Given the description of an element on the screen output the (x, y) to click on. 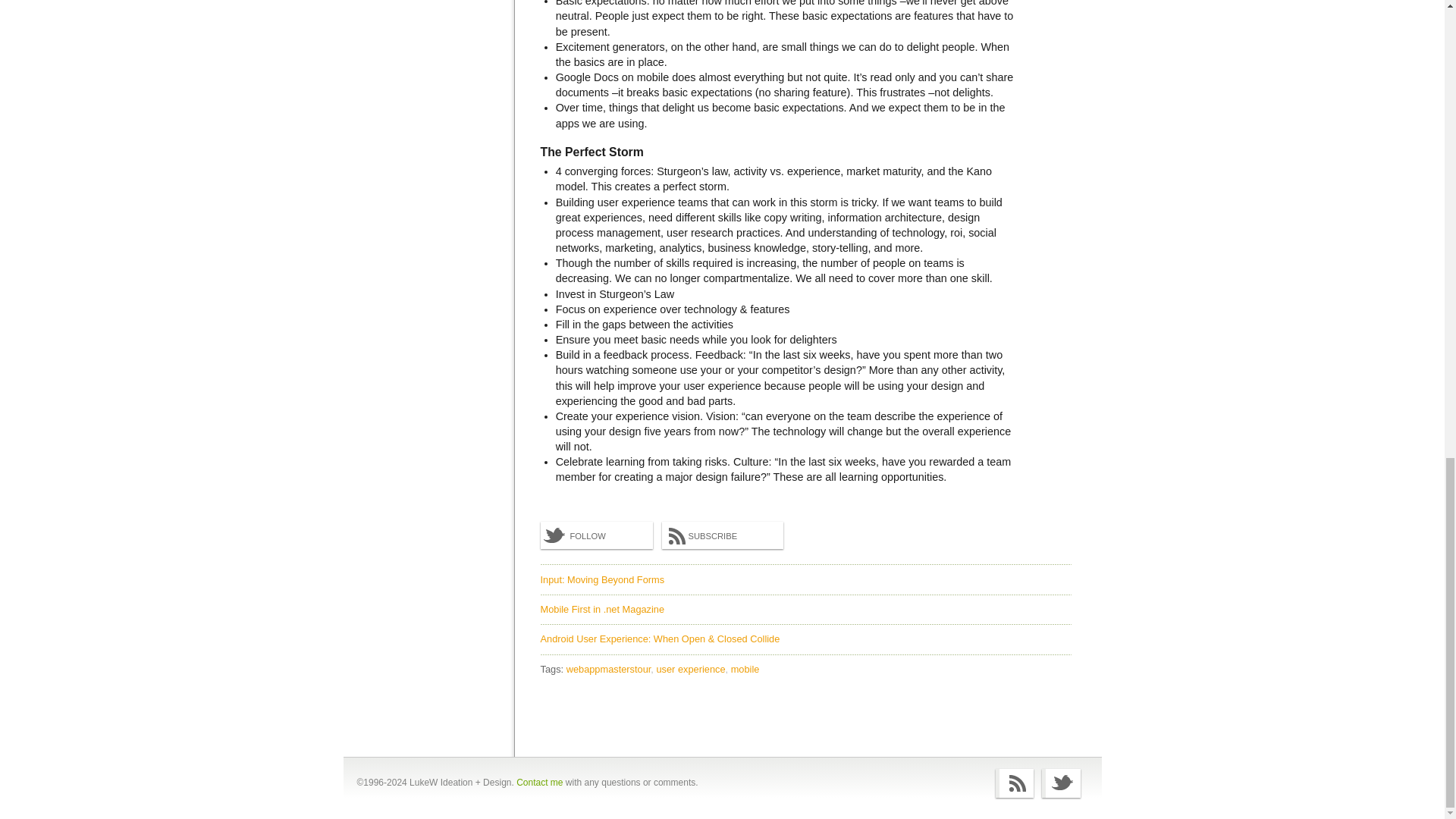
webappmasterstour (609, 668)
Subscribe to News (1014, 783)
Subscribe to News (722, 534)
Mobile First in .net Magazine (601, 609)
Follow on Twitter (1061, 783)
Contact me (539, 782)
FOLLOW (596, 534)
SUBSCRIBE (722, 534)
Follow on Twitter (596, 534)
Input: Moving Beyond Forms (601, 579)
mobile (745, 668)
user experience (692, 668)
